Given the description of an element on the screen output the (x, y) to click on. 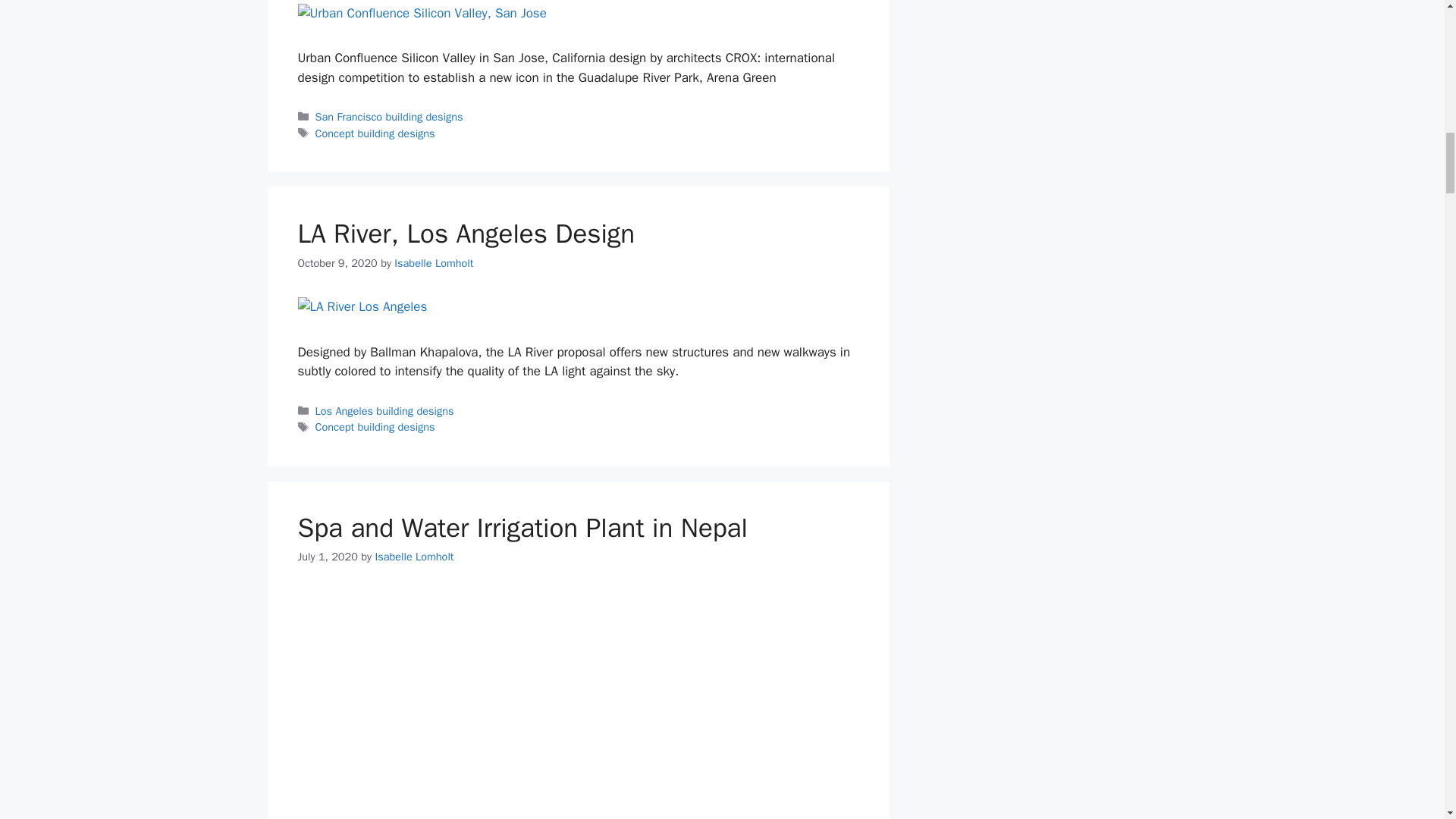
View all posts by Isabelle Lomholt (413, 556)
Concept building designs (375, 133)
View all posts by Isabelle Lomholt (433, 263)
San Francisco building designs (389, 116)
